Given the description of an element on the screen output the (x, y) to click on. 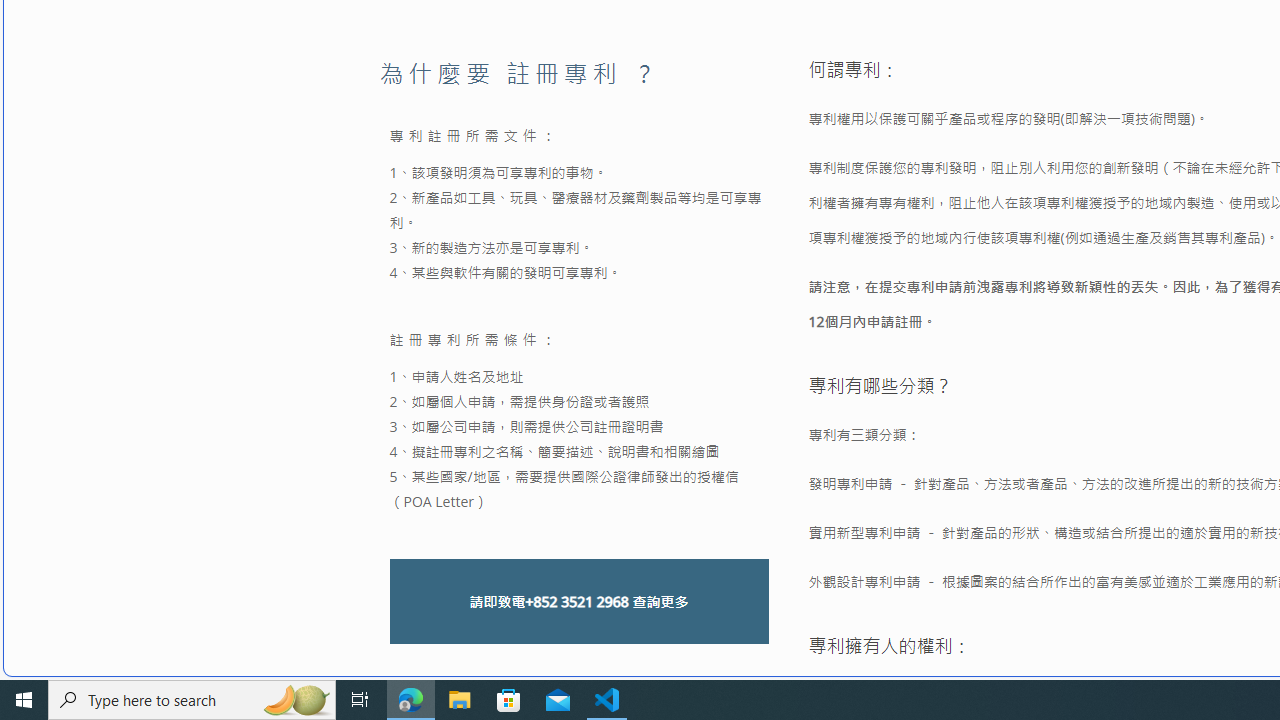
+852 3521 2968 (576, 601)
